Given the description of an element on the screen output the (x, y) to click on. 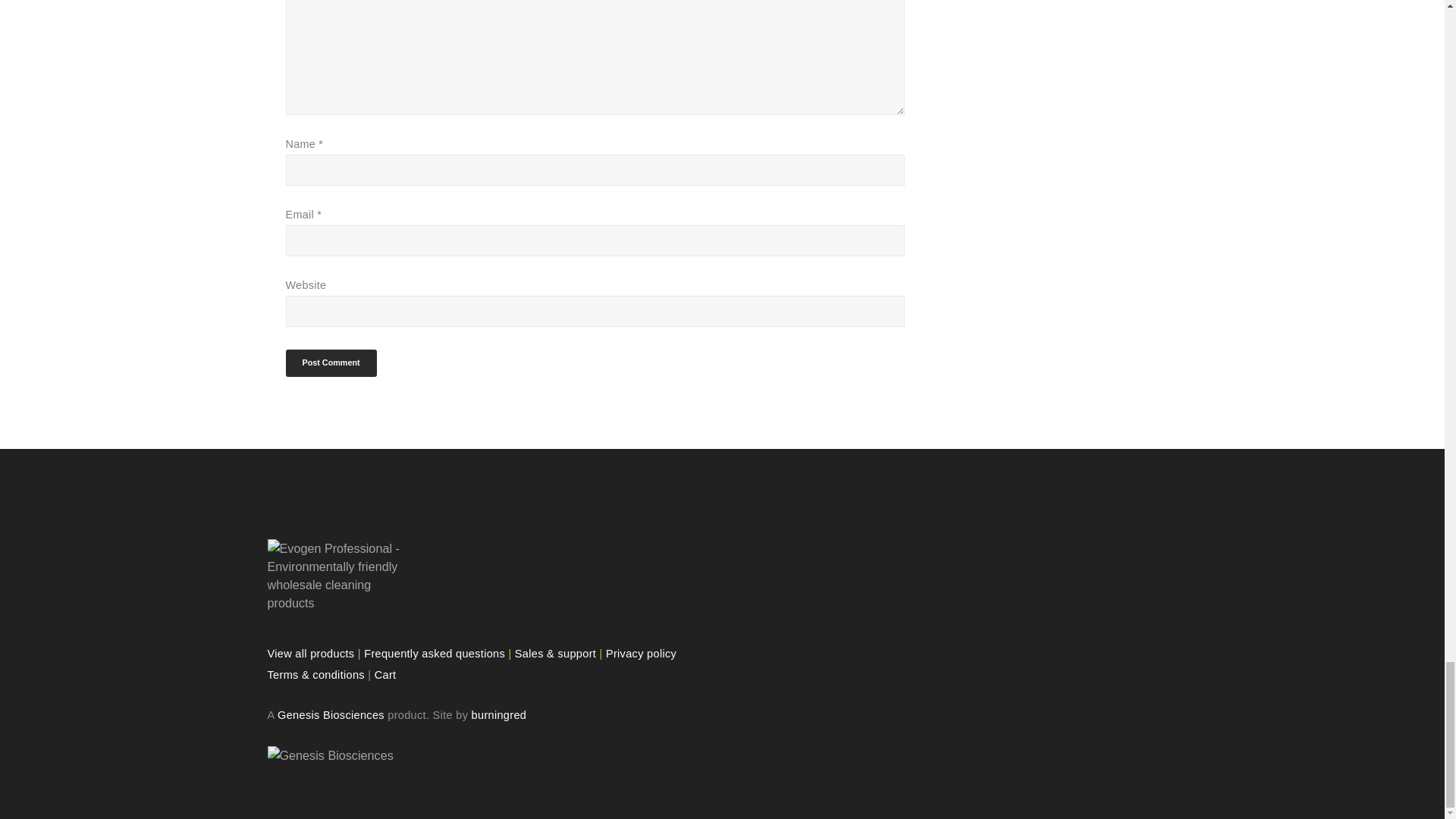
Post Comment (330, 362)
